Given the description of an element on the screen output the (x, y) to click on. 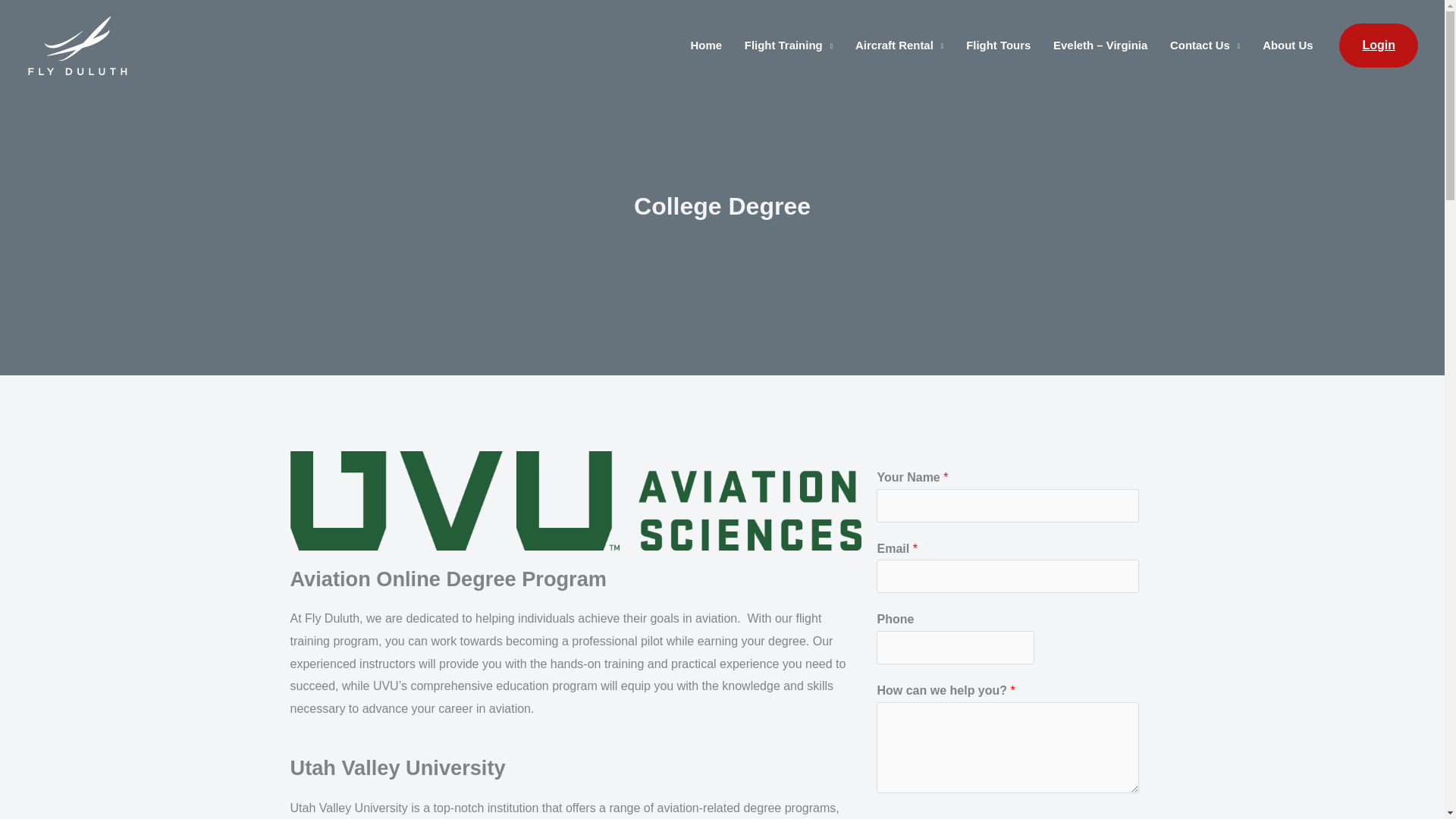
Login (1378, 45)
Home (706, 45)
Aircraft Rental (899, 45)
Contact Us (1204, 45)
Flight Training (788, 45)
Flight Tours (998, 45)
About Us (1286, 45)
